Given the description of an element on the screen output the (x, y) to click on. 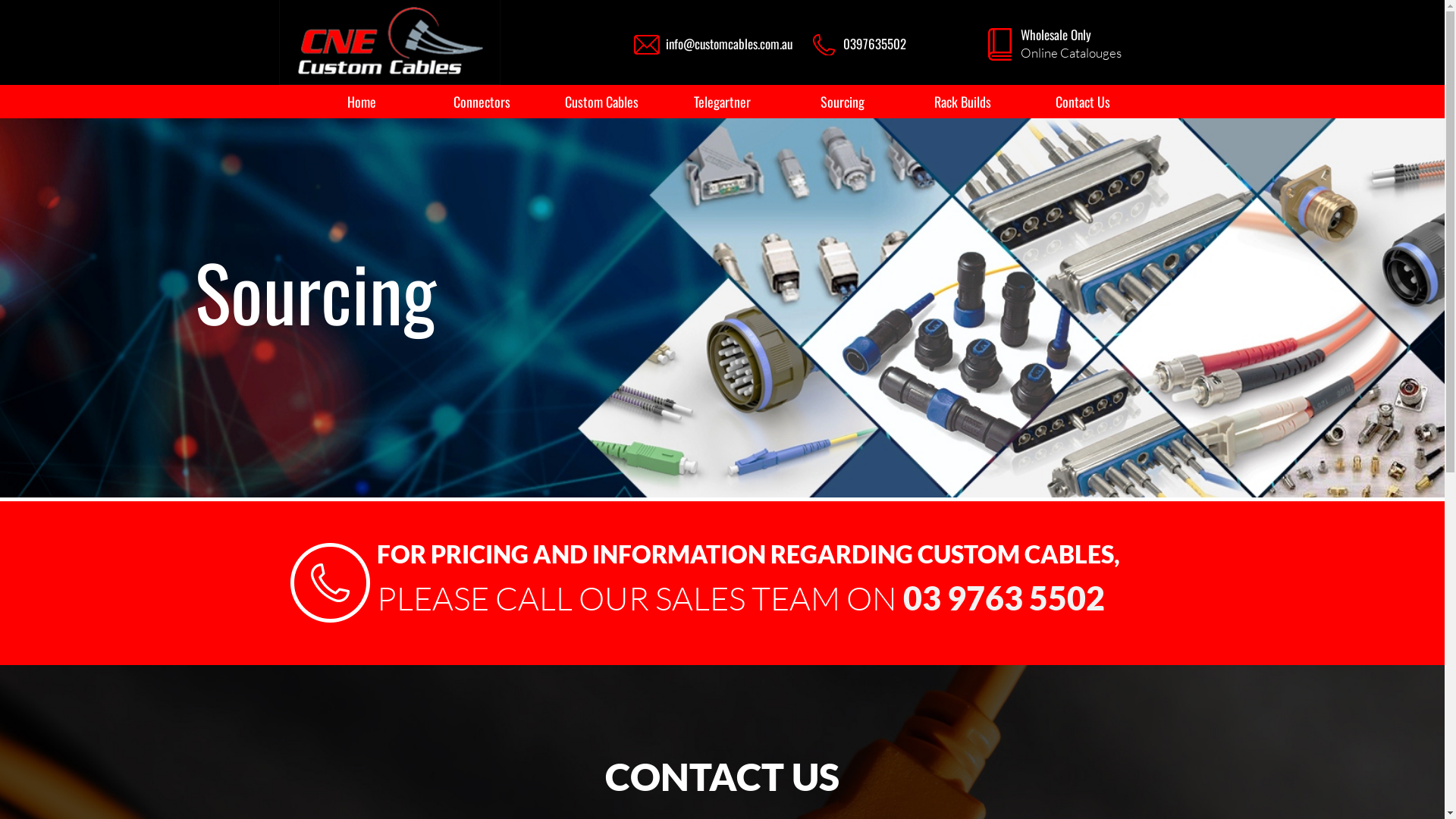
Sourcing Element type: text (842, 101)
03 9763 5502 Element type: text (1003, 597)
Home Element type: text (361, 101)
0397635502 Element type: text (874, 43)
Contact Us Element type: text (1082, 101)
Connectors Element type: text (481, 101)
Custom Cables Element type: text (601, 101)
info@customcables.com.au Element type: text (728, 43)
Telegartner Element type: text (722, 101)
Rack Builds Element type: text (962, 101)
